Given the description of an element on the screen output the (x, y) to click on. 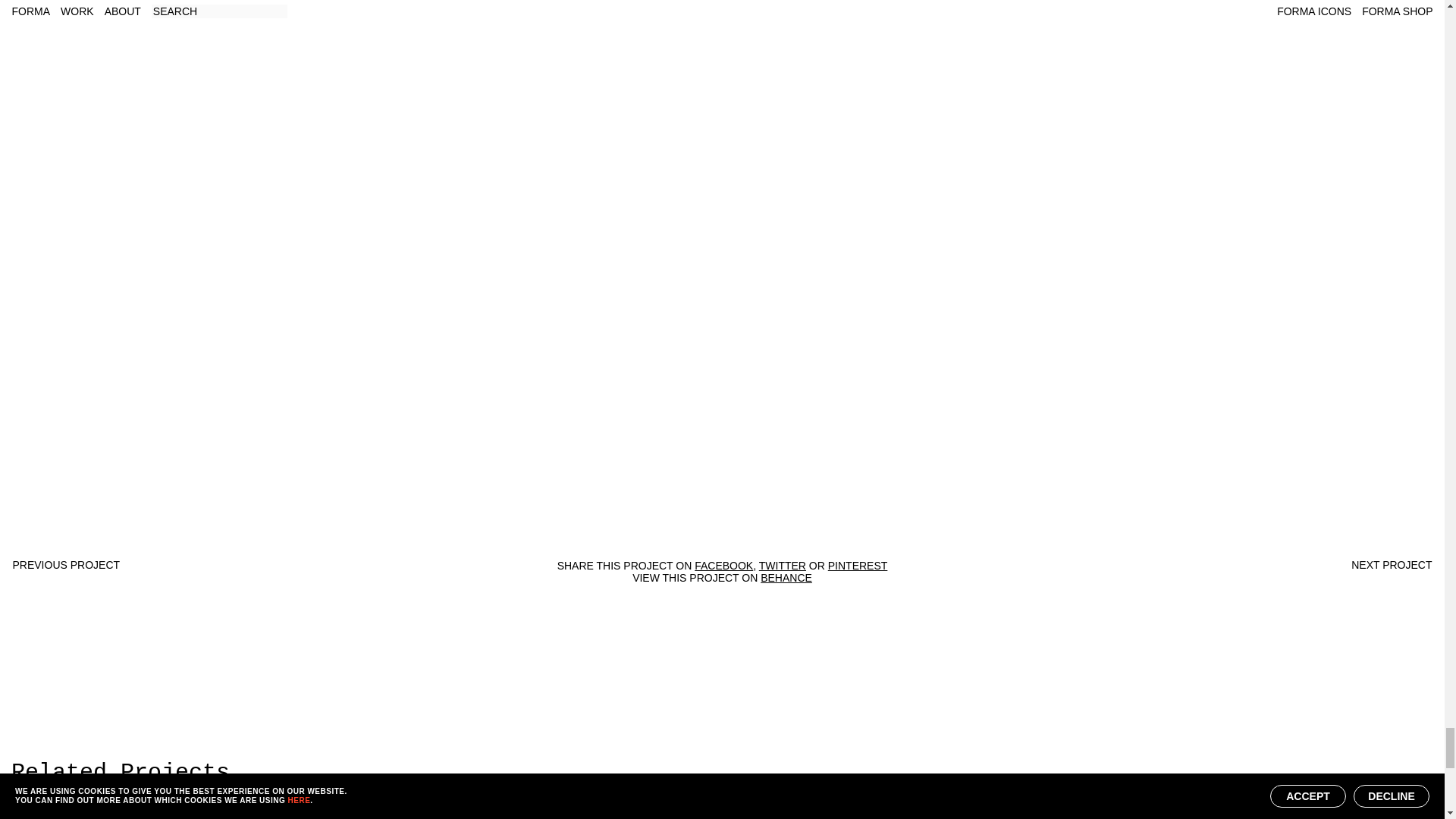
TWITTER (782, 565)
PREVIOUS PROJECT (65, 564)
FACEBOOK (723, 565)
BEHANCE (786, 577)
PINTEREST (858, 565)
NEXT PROJECT (1391, 564)
